Given the description of an element on the screen output the (x, y) to click on. 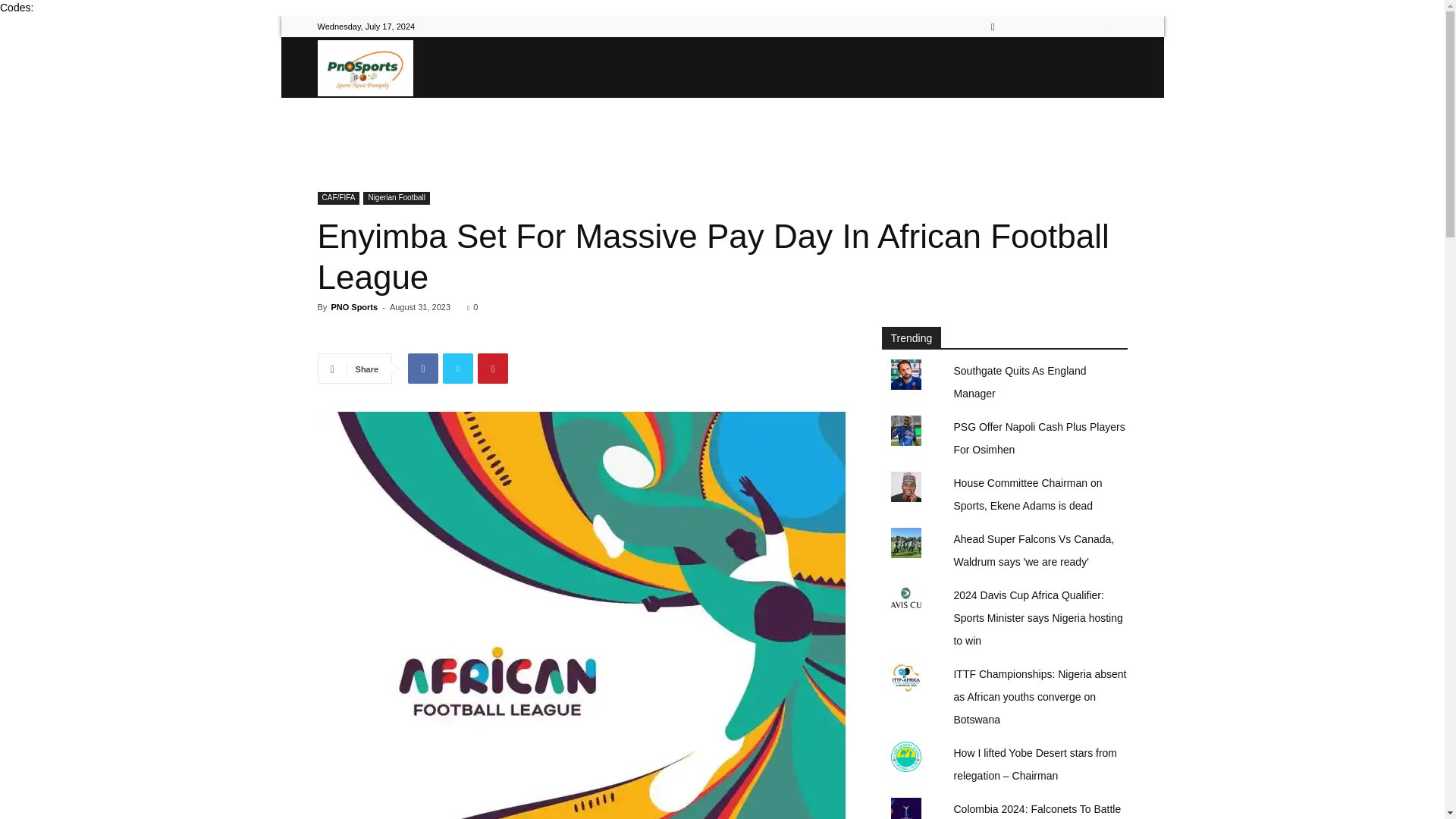
FOREIGN FOOTBALL (755, 127)
NIGERIAN FOOTBALL (624, 127)
Search (1085, 79)
NATIONAL TEAMS (499, 127)
SPORTSTAINMENT (985, 127)
VKontakte (1090, 25)
Twitter (1040, 25)
Nigerian Football (395, 197)
PNO Sports (364, 67)
Youtube (1114, 25)
Facebook (1015, 25)
OTHER SPORTS (873, 127)
Vimeo (1065, 25)
